Given the description of an element on the screen output the (x, y) to click on. 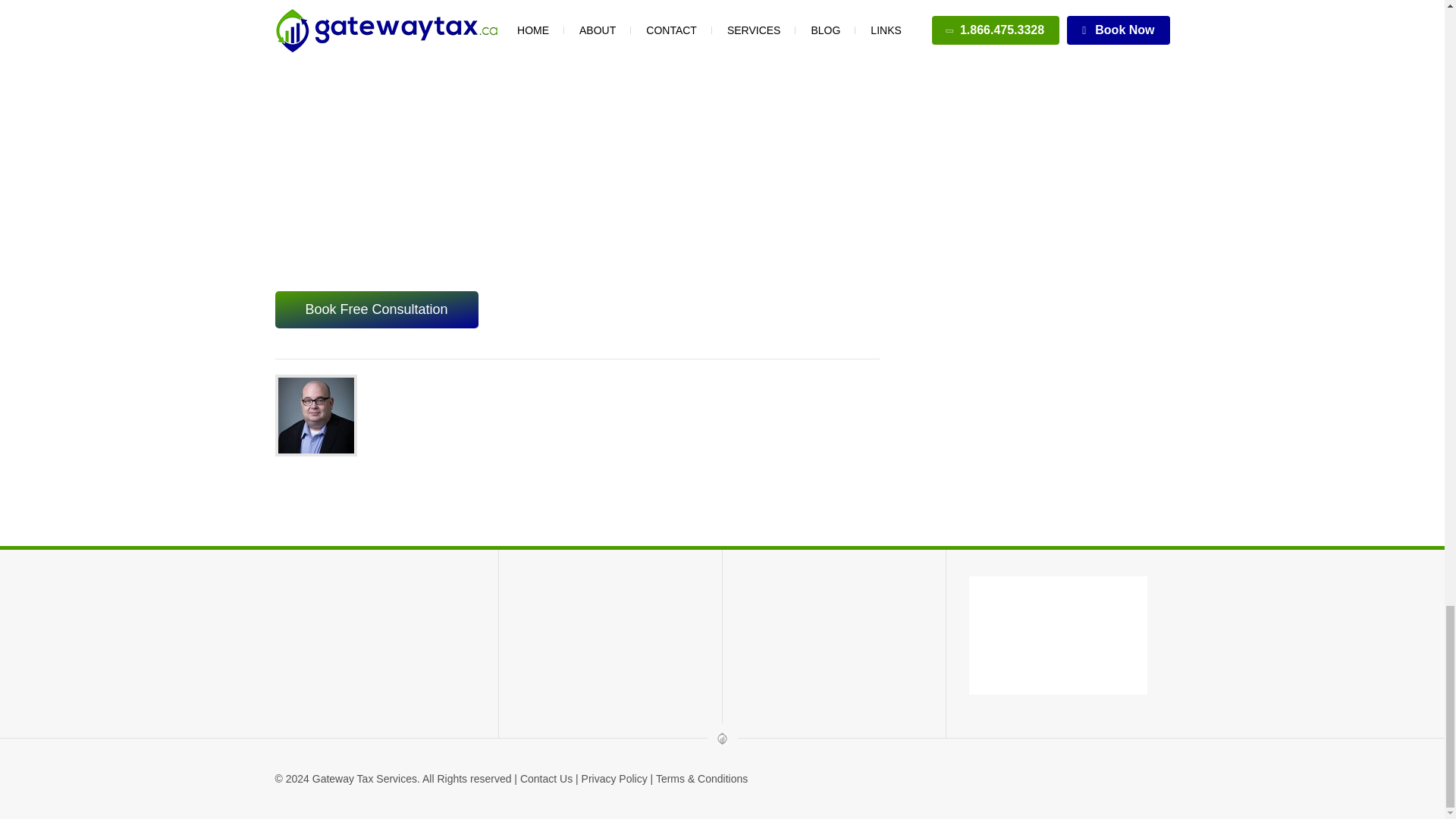
Book Free Consultation (376, 309)
